Given the description of an element on the screen output the (x, y) to click on. 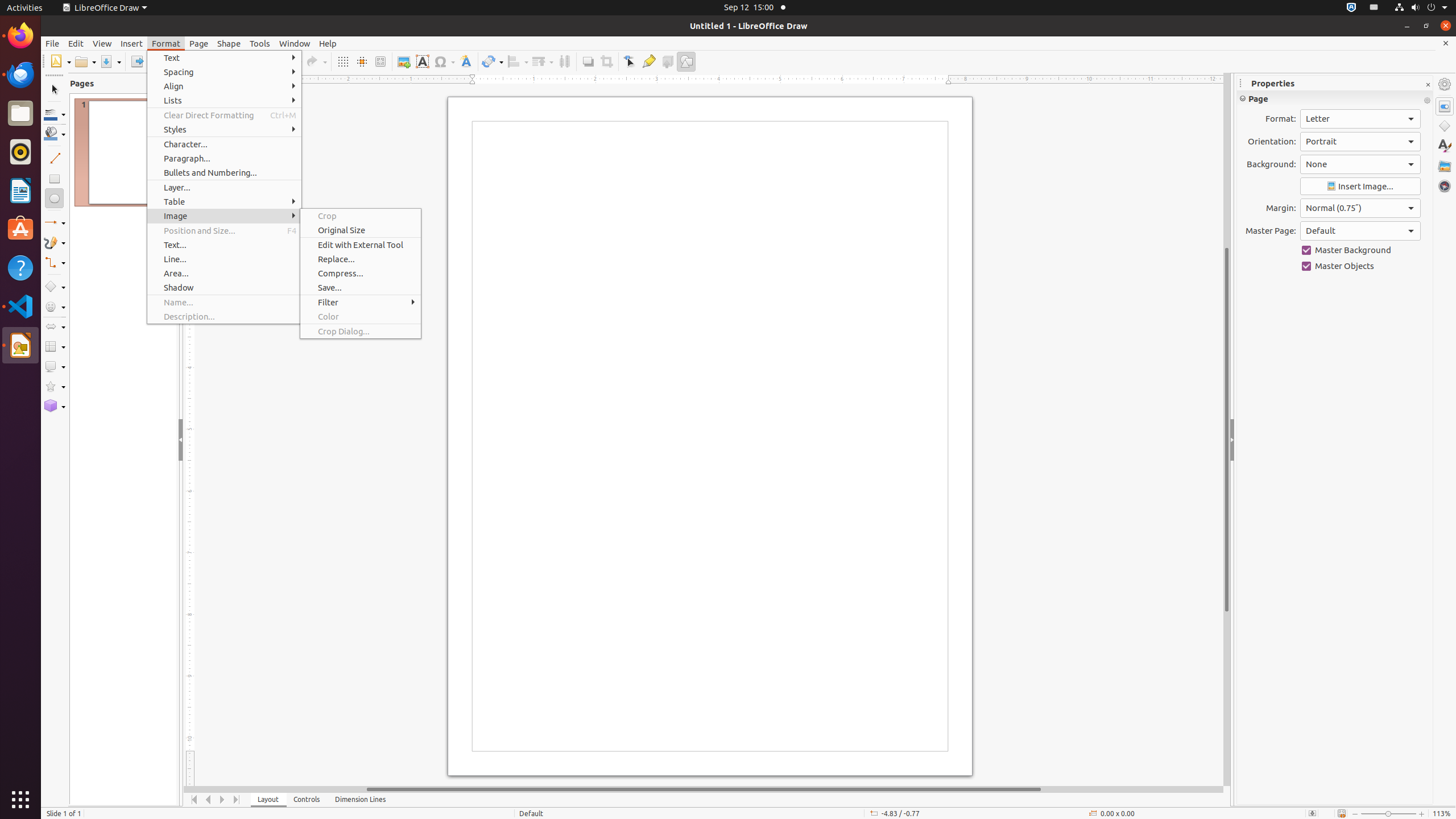
Select Element type: push-button (53, 89)
File Element type: menu (51, 43)
Image Element type: menu (224, 215)
Transformations Element type: push-button (492, 61)
Edit Element type: menu (75, 43)
